Given the description of an element on the screen output the (x, y) to click on. 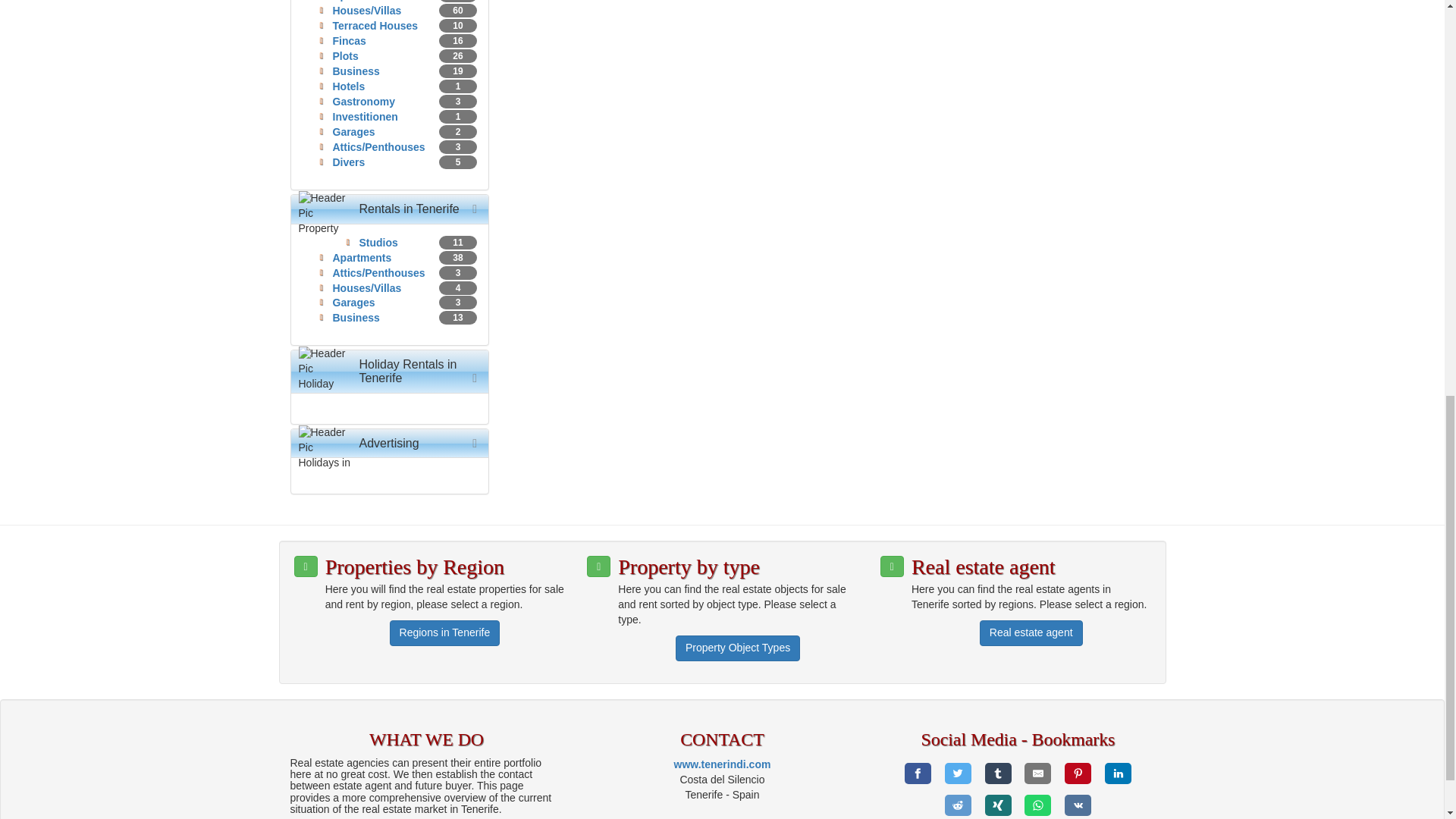
Apartments for rent Tenerife (361, 257)
Garages for rent Tenerife (352, 302)
Garages (352, 132)
Business for rent Tenerife (354, 317)
Miscellaneous for sale Tenerife (348, 162)
Gastronomy (362, 101)
Terraced Houses for sale Tenerife (374, 25)
Apartments (361, 0)
Business (354, 70)
Garages for sale Tenerife (352, 132)
